Given the description of an element on the screen output the (x, y) to click on. 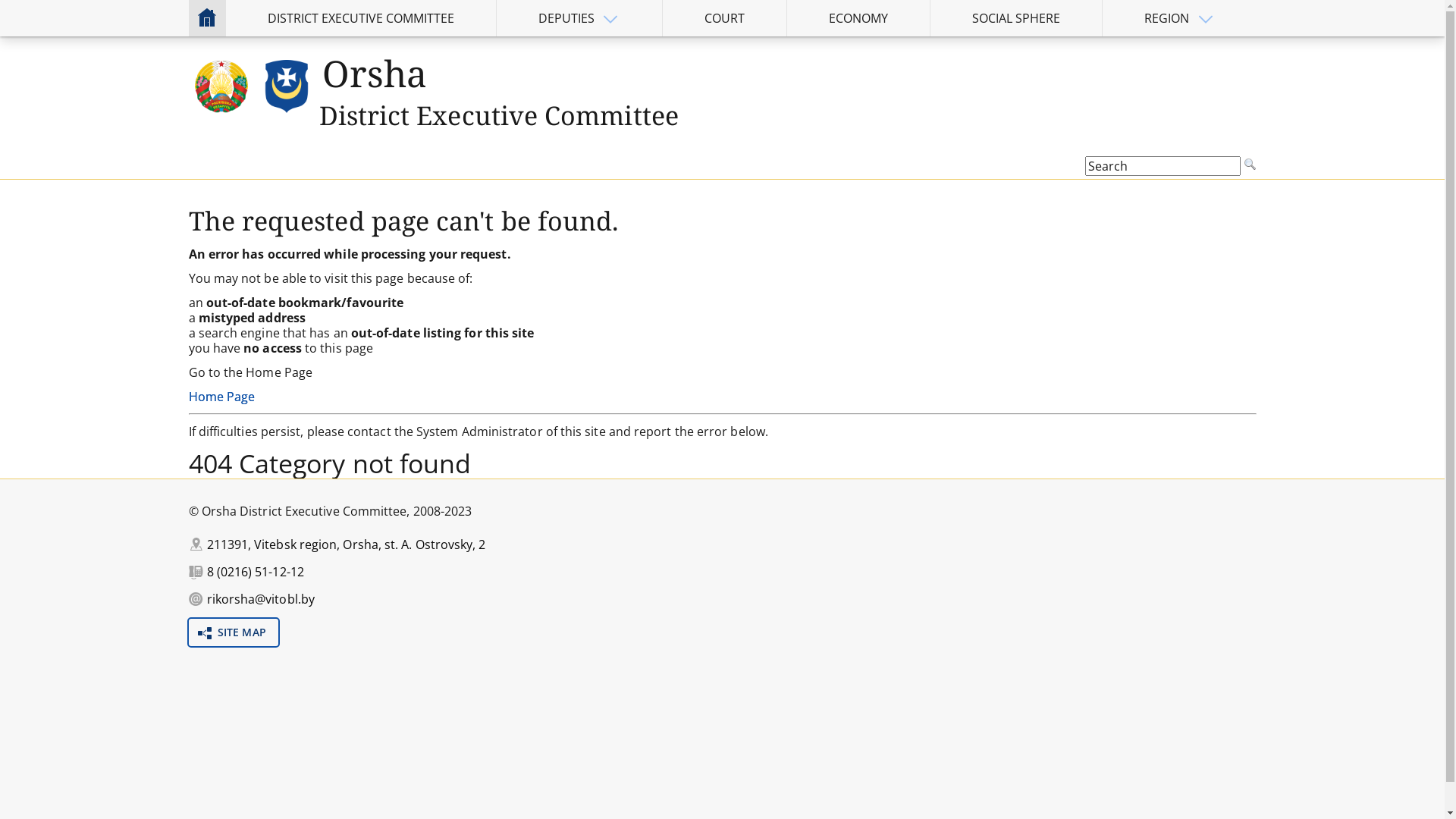
REGION Element type: text (1166, 17)
211391, Vitebsk region, Orsha, st. A. Ostrovsky, 2 Element type: text (345, 544)
HOME Element type: text (206, 17)
rikorsha@vitobl.by Element type: text (259, 598)
DEPUTIES Element type: text (566, 17)
COURT Element type: text (724, 17)
DISTRICT EXECUTIVE COMMITTEE Element type: text (361, 17)
SITE MAP Element type: text (232, 632)
SOCIAL SPHERE Element type: text (1016, 17)
Orsha  Element type: text (378, 72)
ECONOMY Element type: text (858, 17)
8 (0216) 51-12-12 Element type: text (254, 571)
Home Page Element type: text (221, 396)
District Executive Committee Element type: text (497, 114)
